Given the description of an element on the screen output the (x, y) to click on. 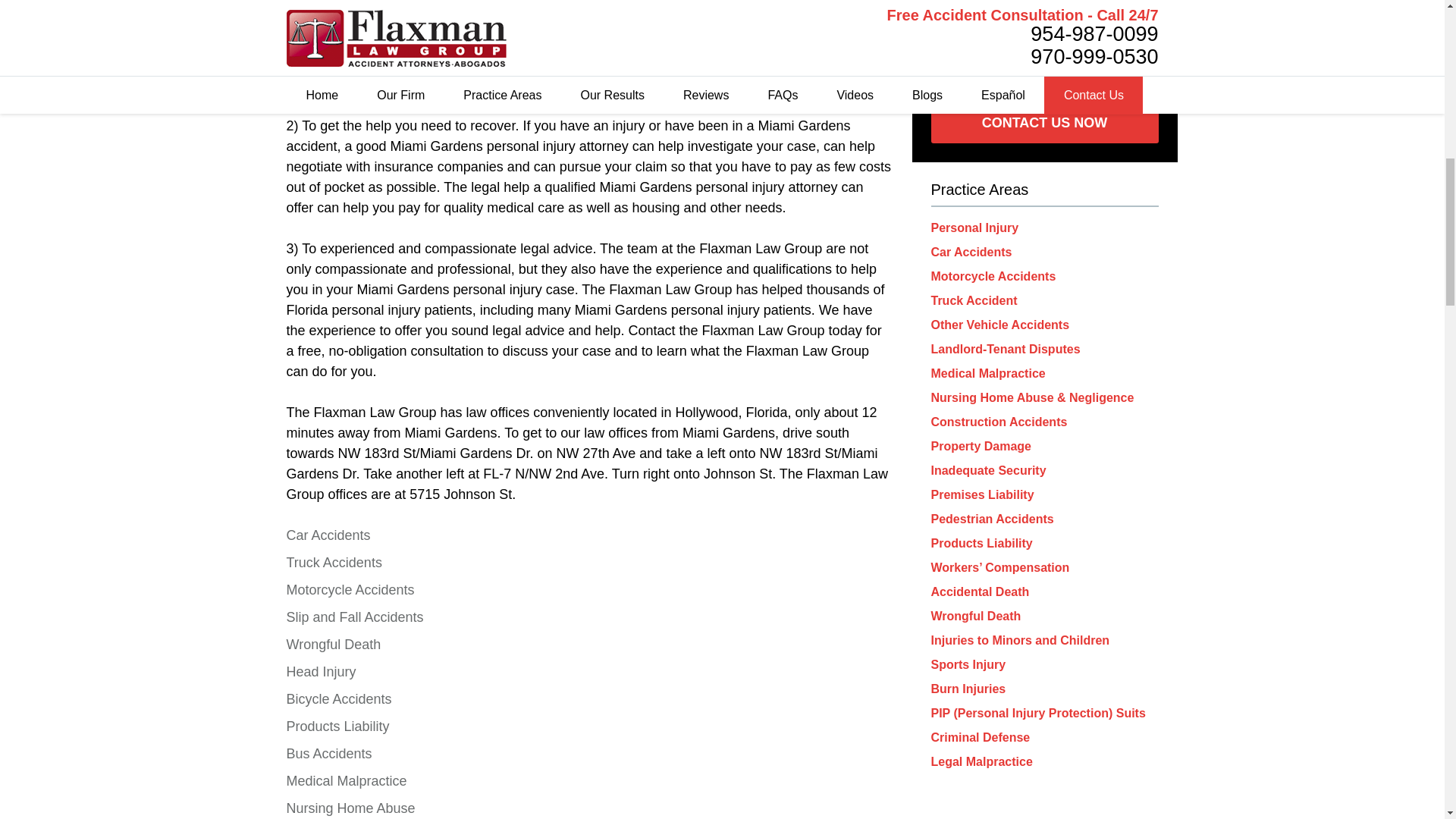
Wrongful Death (333, 644)
Motorcycle Accidents (350, 589)
Slip and Fall Accidents (354, 616)
Car Accidents (328, 534)
Head Injury (321, 671)
Bicycle Accidents (338, 698)
Products Liability (338, 726)
Truck Accidents (333, 562)
